Given the description of an element on the screen output the (x, y) to click on. 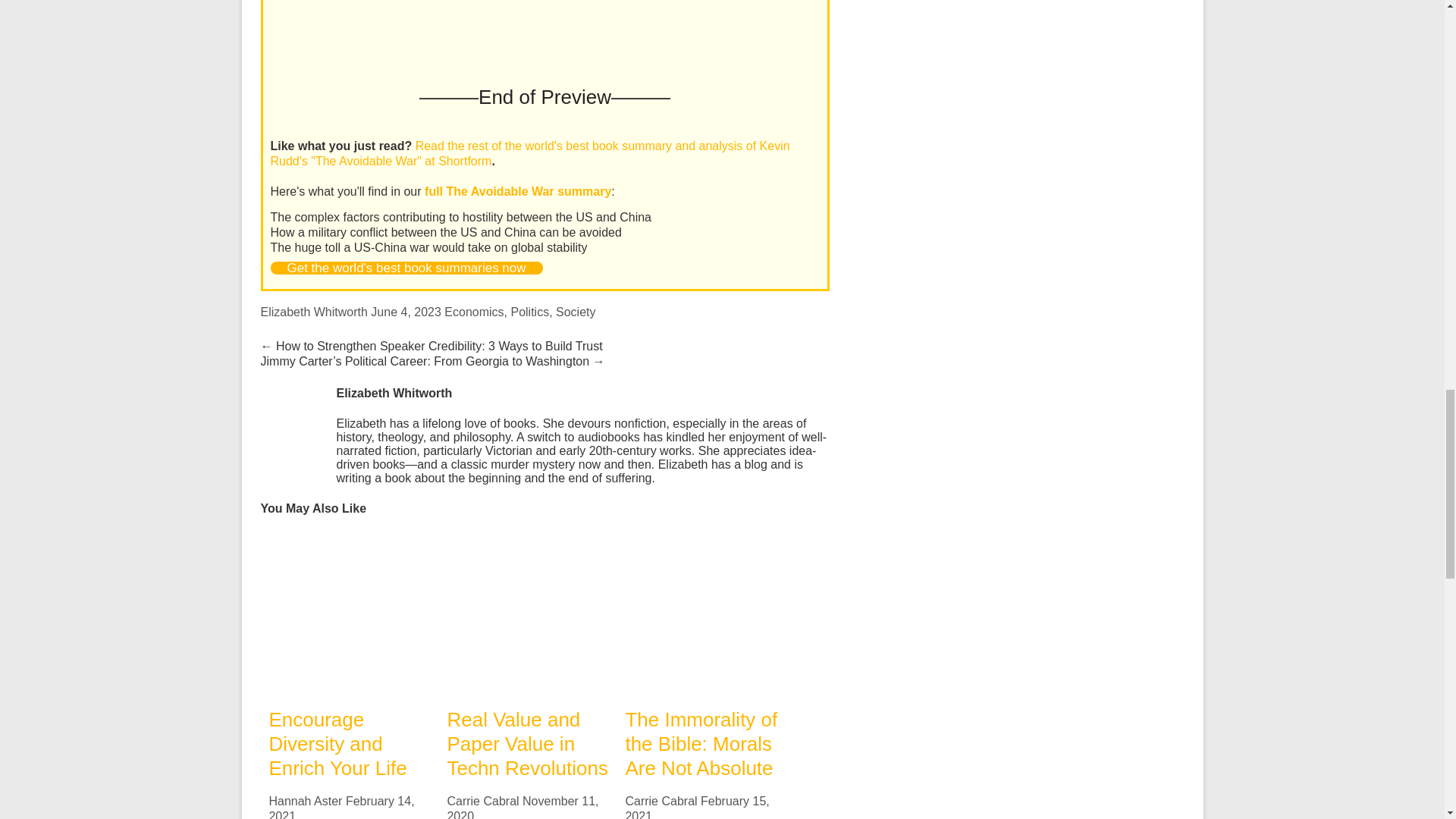
10:34 am (340, 806)
Economics (473, 311)
Real Value and Paper Value in Techn Revolutions (526, 743)
Encourage Diversity and Enrich Your Life (336, 743)
The Immorality of the Bible: Morals Are Not Absolute (705, 612)
The Immorality of the Bible: Morals Are Not Absolute (705, 539)
The Immorality of the Bible: Morals Are Not Absolute (700, 743)
June 4, 2023 (406, 311)
Hannah Aster (304, 800)
Carrie Cabral (482, 800)
8:43 pm (522, 806)
Encourage Diversity and Enrich Your Life (336, 743)
5:14 pm (406, 311)
Politics (529, 311)
Society (575, 311)
